Given the description of an element on the screen output the (x, y) to click on. 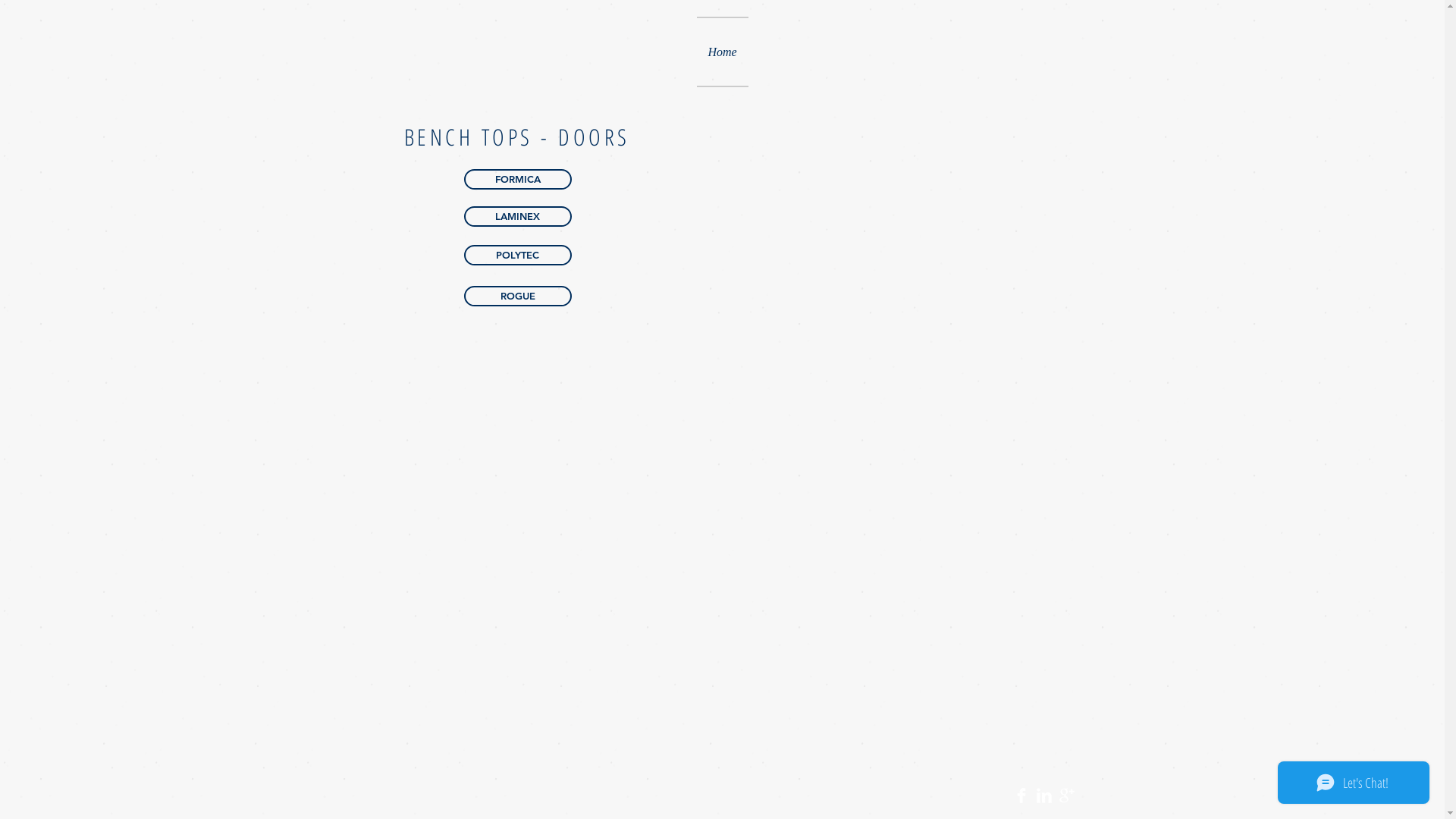
ROGUE Element type: text (517, 295)
LAMINEX Element type: text (517, 216)
FORMICA Element type: text (517, 179)
POLYTEC Element type: text (517, 254)
Home Element type: text (721, 51)
